Given the description of an element on the screen output the (x, y) to click on. 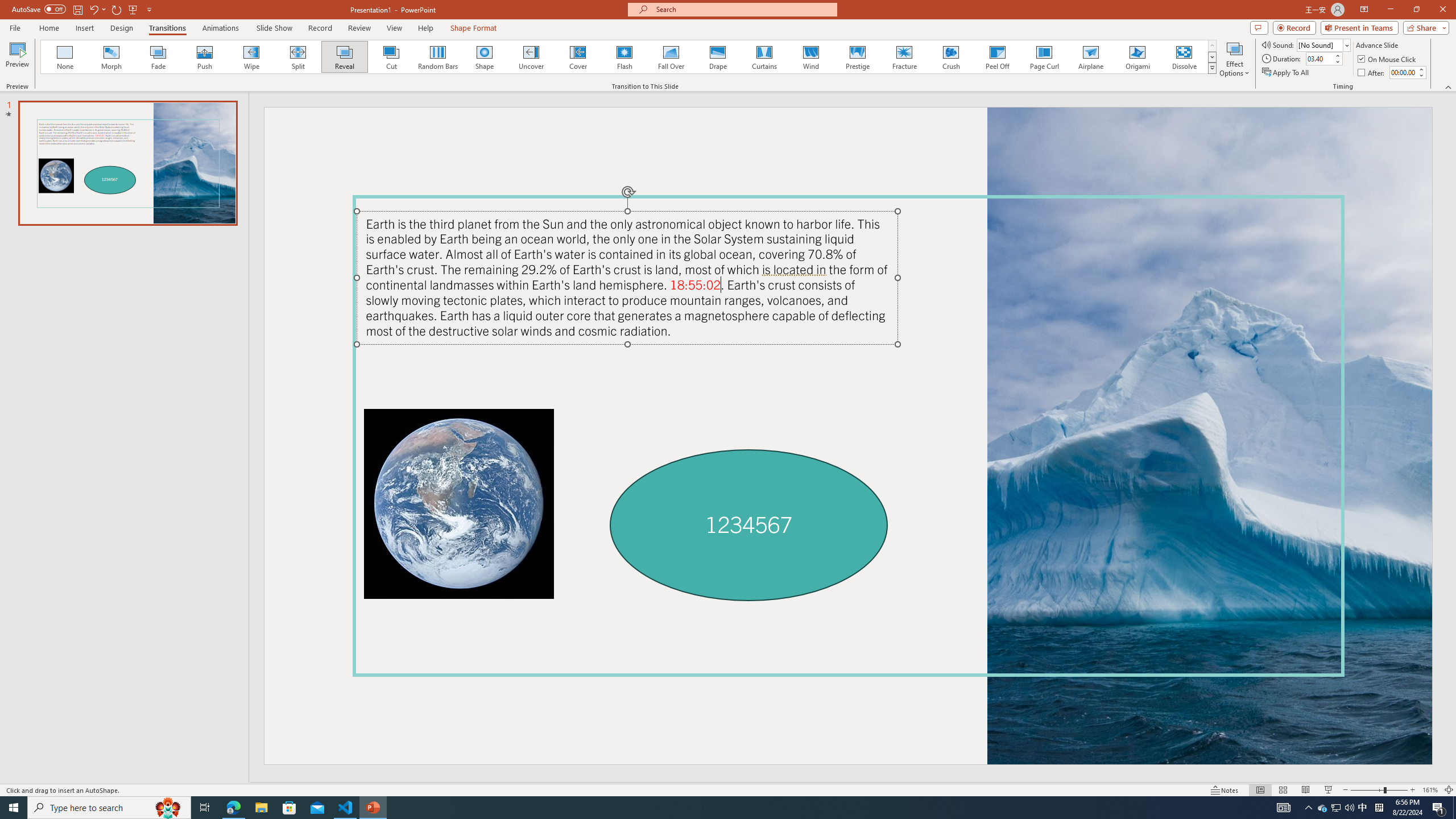
Effect Options (1234, 58)
Apply To All (1286, 72)
Airplane (1090, 56)
Fade (158, 56)
On Mouse Click (1387, 58)
None (65, 56)
